Given the description of an element on the screen output the (x, y) to click on. 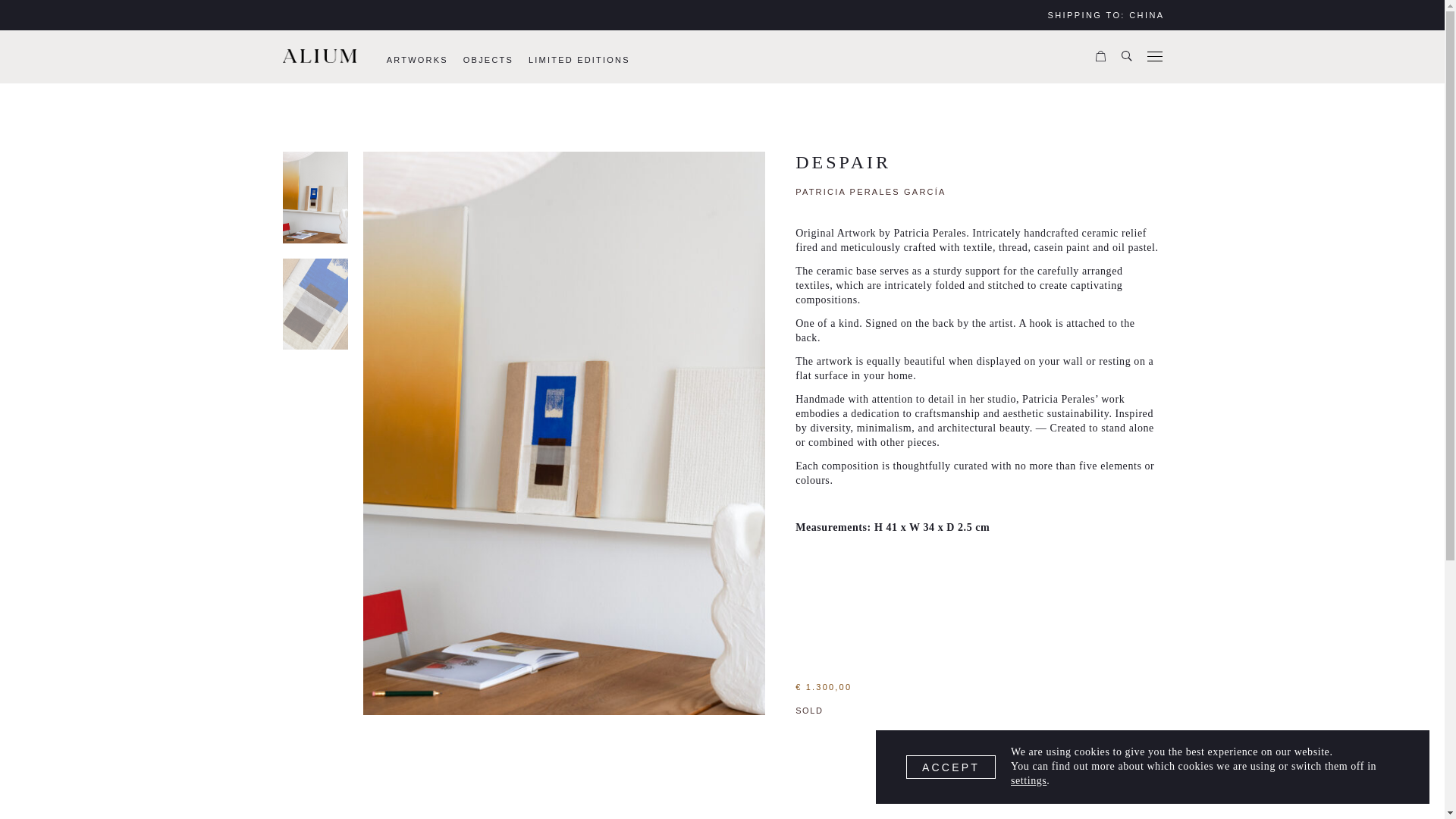
ACCEPT (950, 766)
OBJECTS (488, 58)
LIMITED EDITIONS (579, 58)
ARTWORKS (417, 58)
